Given the description of an element on the screen output the (x, y) to click on. 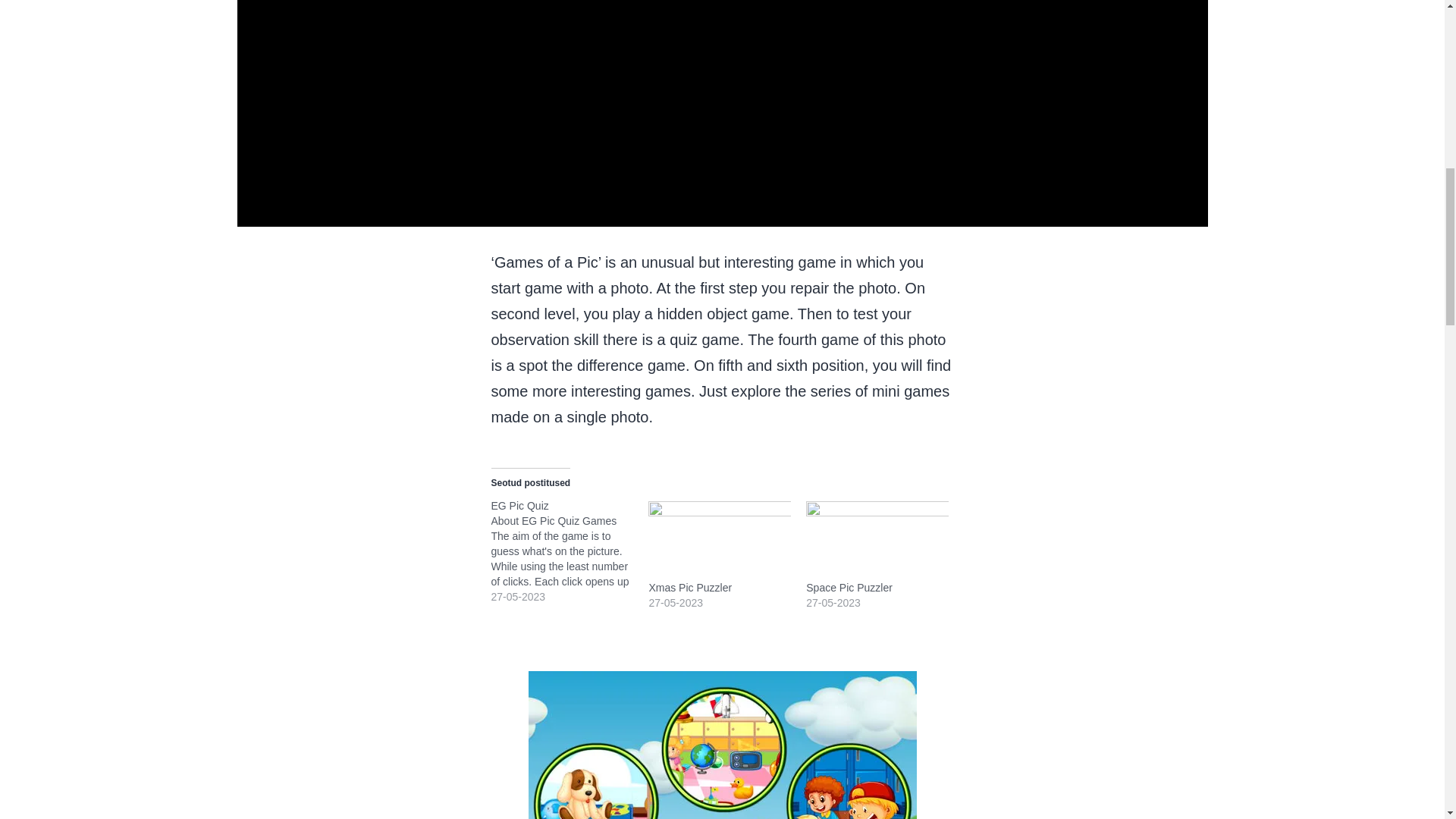
Space Pic Puzzler (849, 587)
Xmas Pic Puzzler (718, 538)
Xmas Pic Puzzler (689, 587)
Space Pic Puzzler (877, 538)
EG Pic Quiz (520, 505)
EG Pic Quiz (520, 505)
EG Pic Quiz (570, 550)
Xmas Pic Puzzler (689, 587)
Space Pic Puzzler (849, 587)
